Given the description of an element on the screen output the (x, y) to click on. 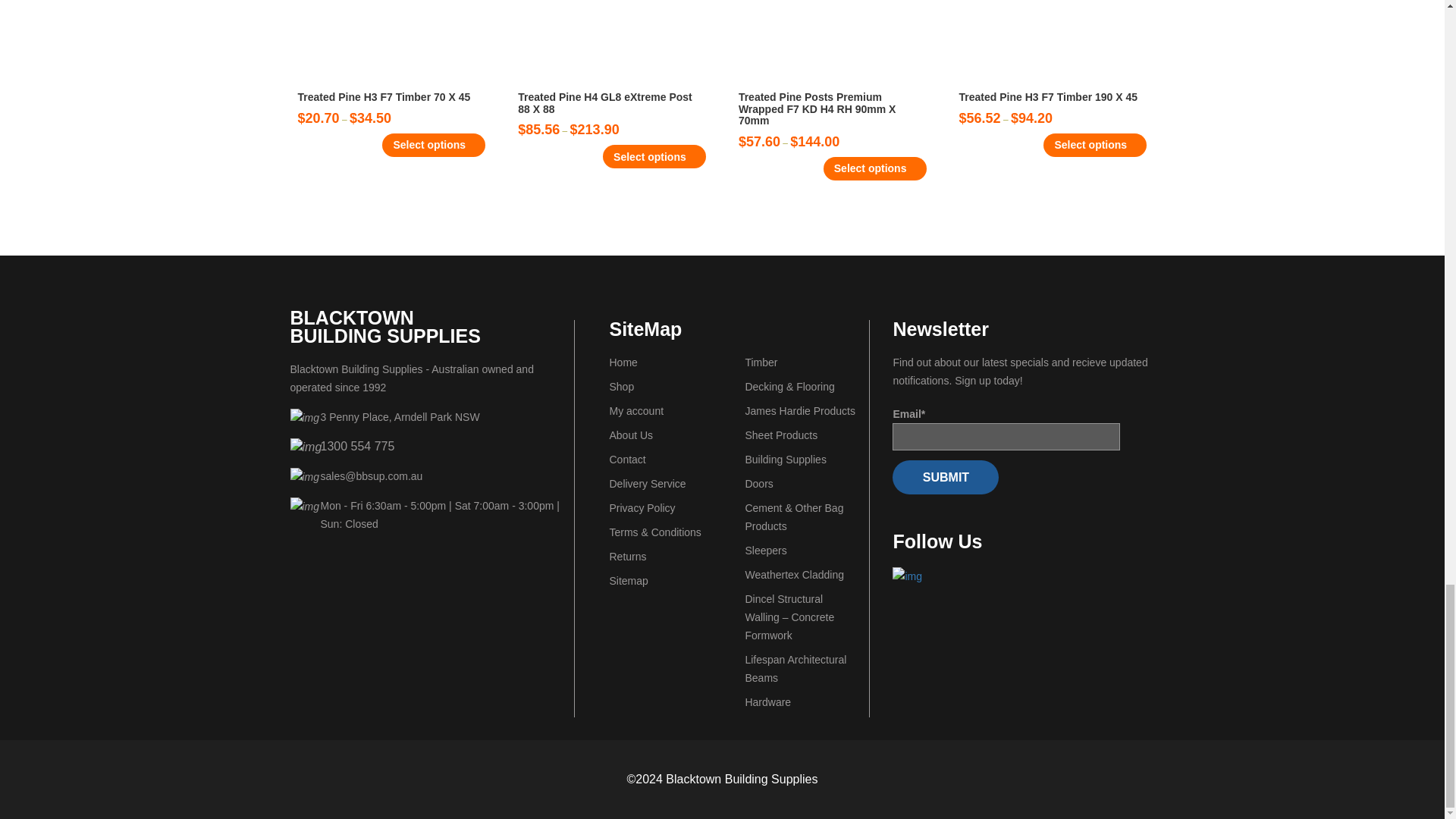
Submit (945, 477)
